Given the description of an element on the screen output the (x, y) to click on. 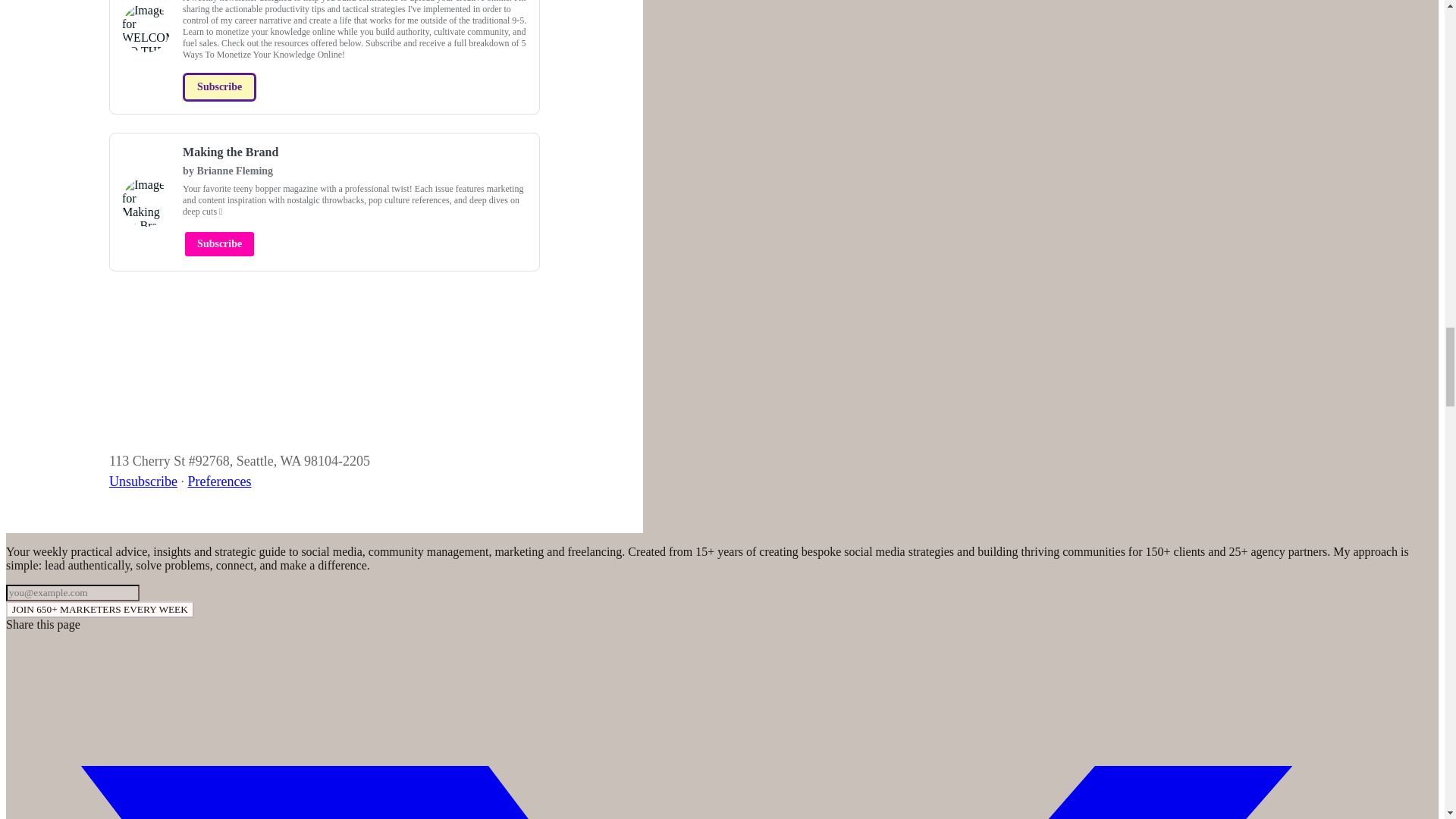
Subscribe (219, 244)
Preferences (218, 481)
Subscribe (219, 86)
Unsubscribe (143, 481)
